Given the description of an element on the screen output the (x, y) to click on. 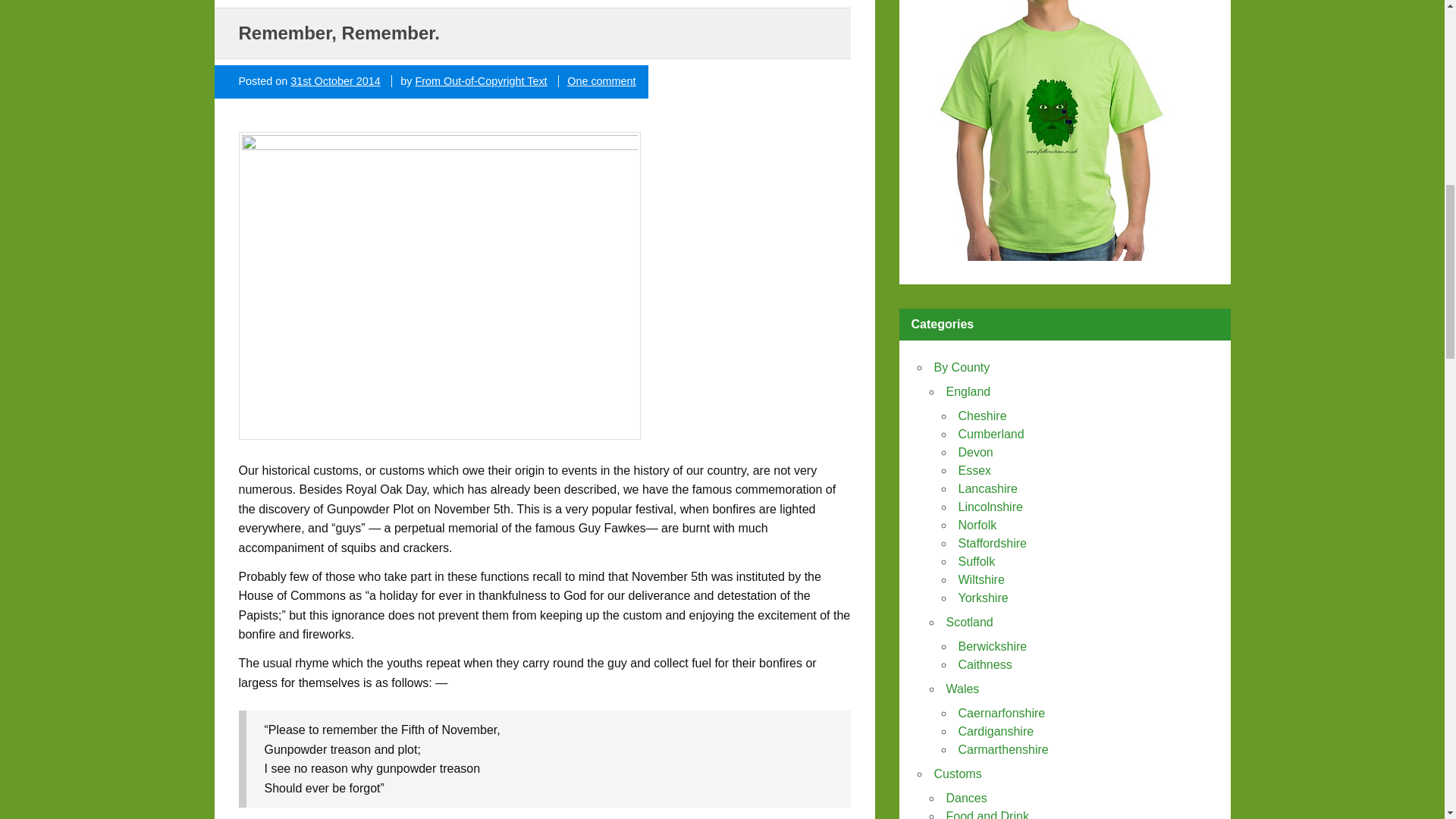
Cheshire (982, 415)
By County (962, 367)
View all posts by From Out-of-Copyright Text (480, 80)
From Out-of-Copyright Text (480, 80)
10:33 am (334, 80)
31st October 2014 (334, 80)
England (968, 391)
Remember, Remember. (338, 32)
One comment (600, 80)
